Given the description of an element on the screen output the (x, y) to click on. 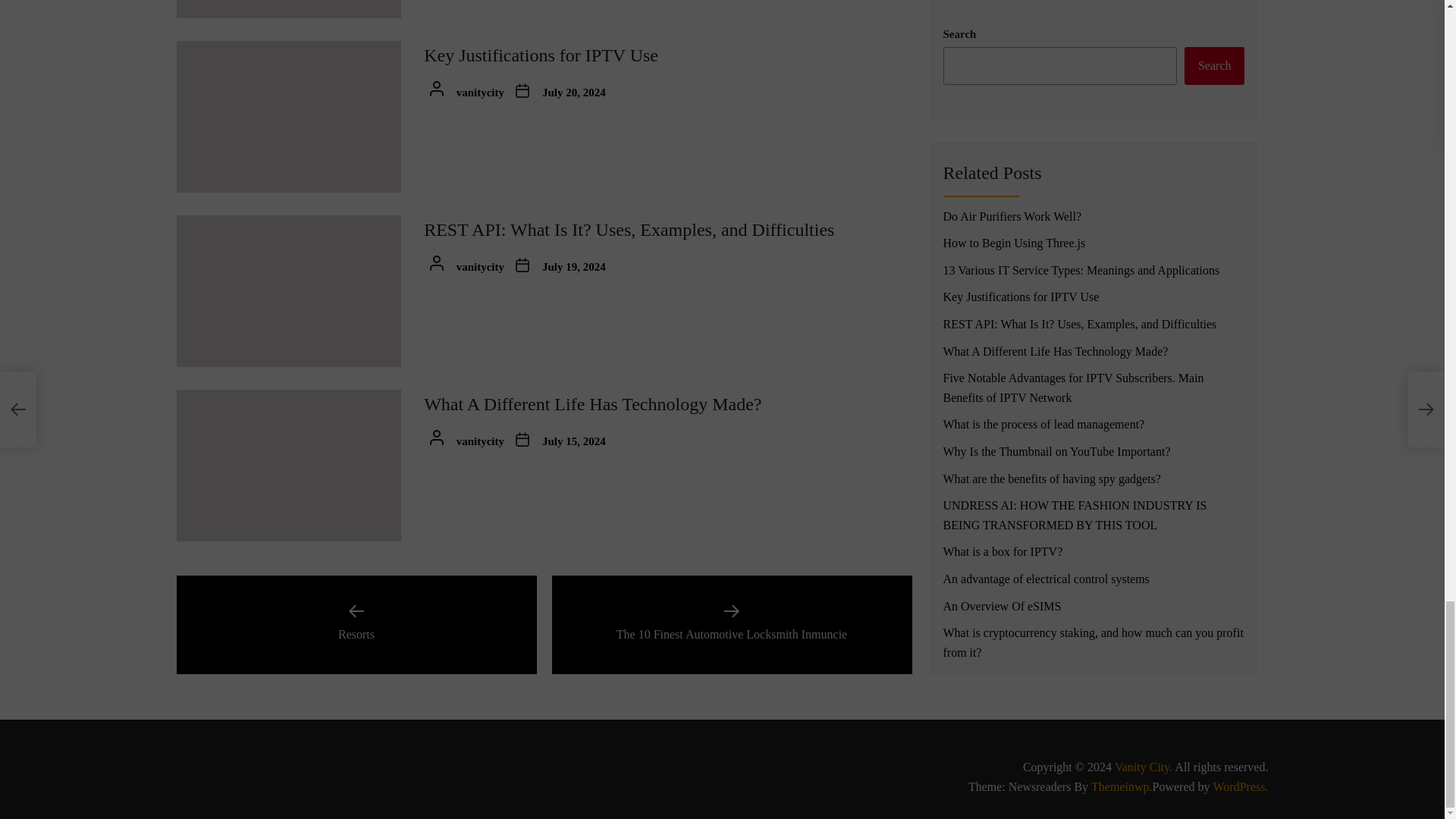
Themeinwp (1120, 786)
Vanity City (1143, 767)
WordPress (1240, 786)
